Given the description of an element on the screen output the (x, y) to click on. 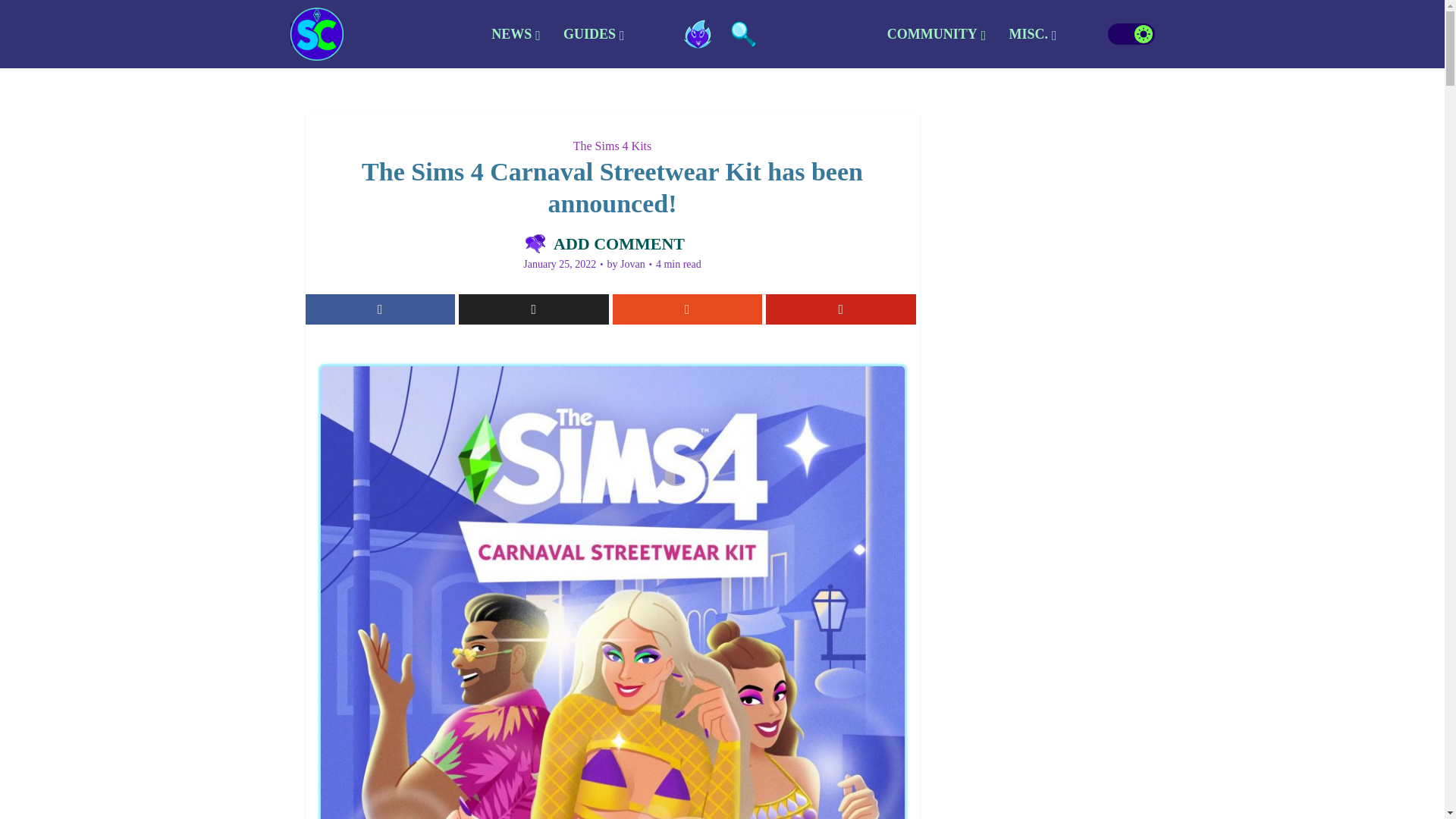
on (1130, 34)
